Given the description of an element on the screen output the (x, y) to click on. 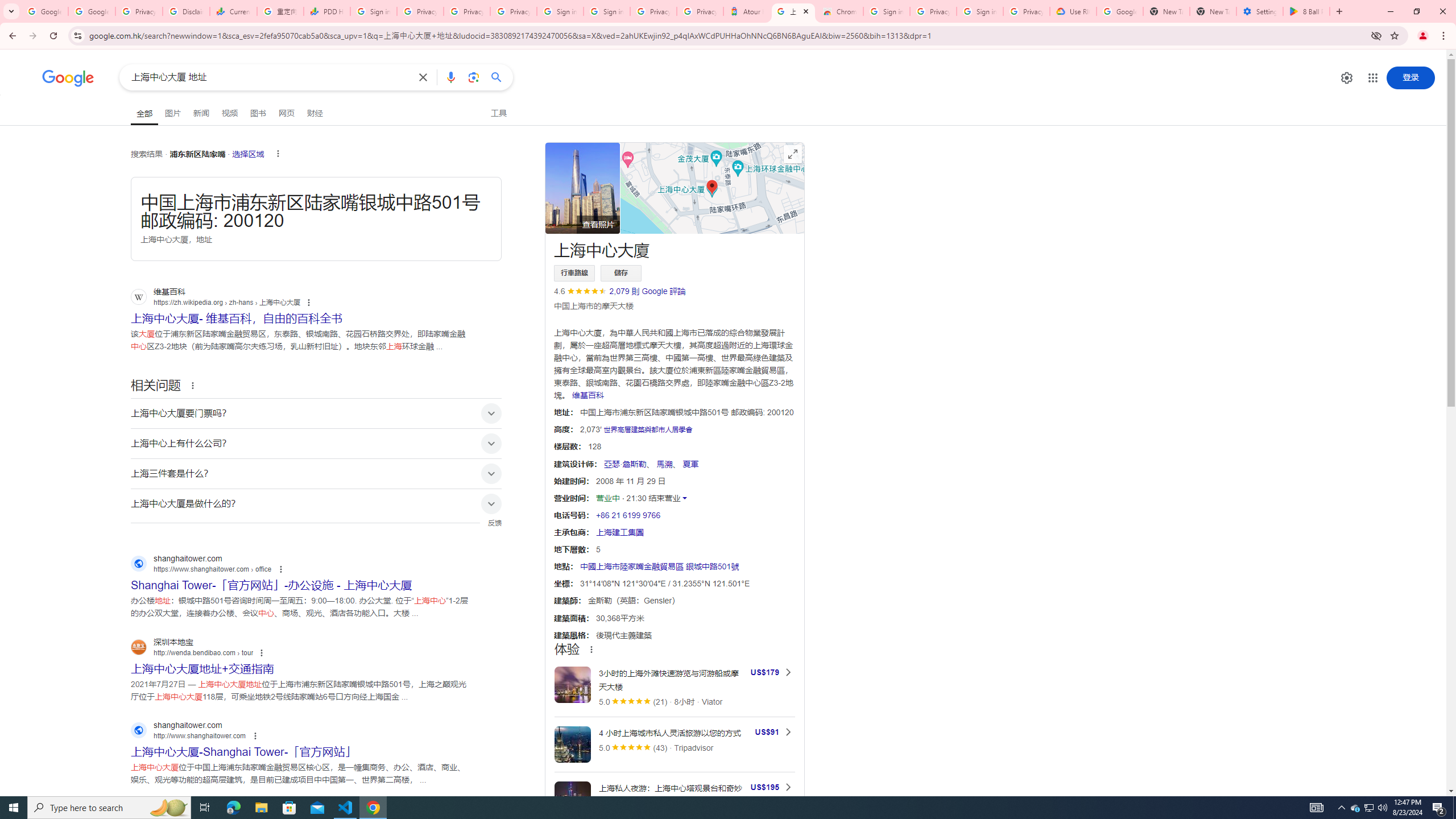
Sign in - Google Accounts (559, 11)
New Tab (1213, 11)
